Given the description of an element on the screen output the (x, y) to click on. 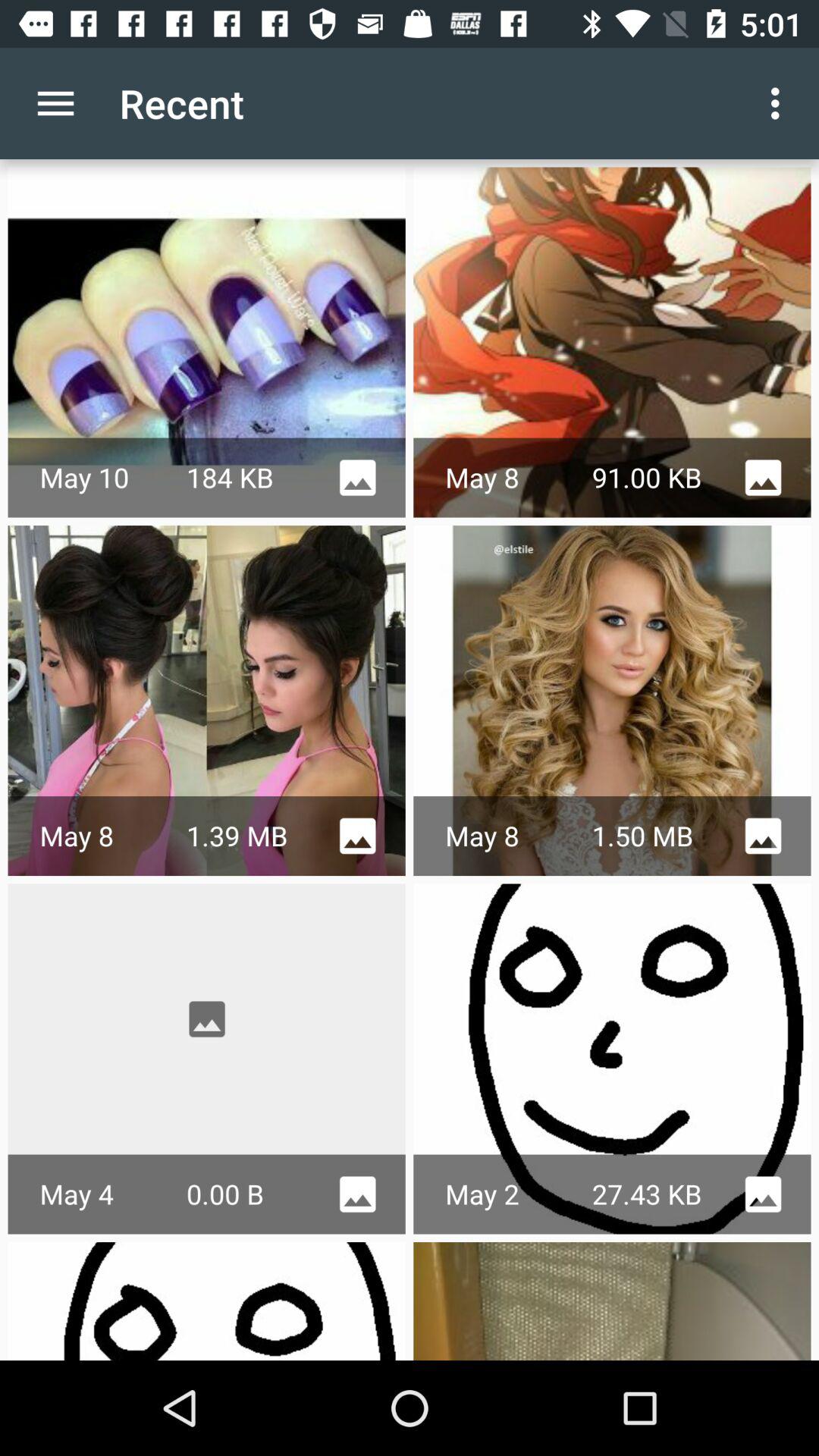
turn on app next to the recent item (55, 103)
